Given the description of an element on the screen output the (x, y) to click on. 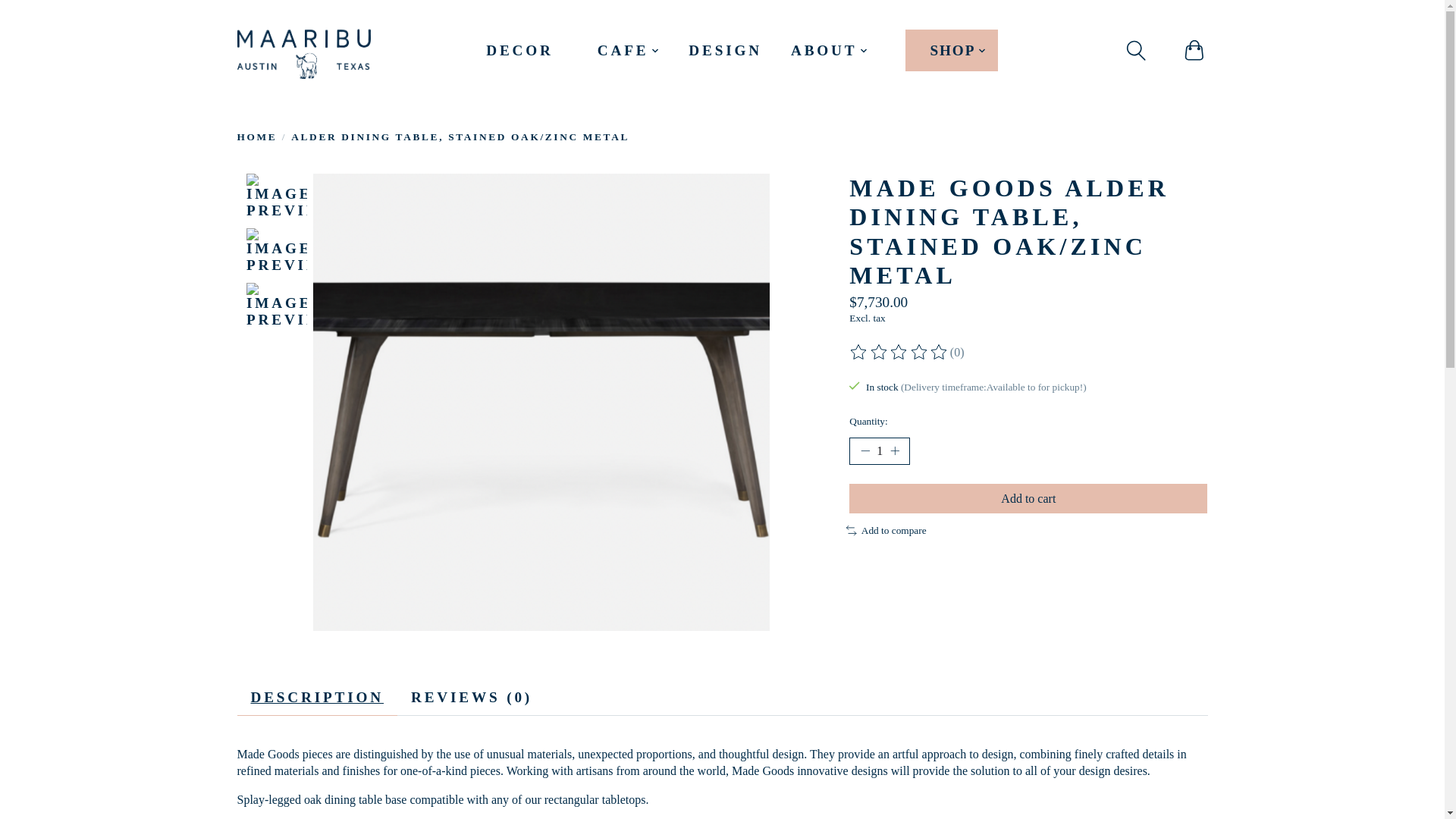
Maaribu (302, 50)
DESIGN (724, 50)
DECOR (519, 50)
SHOP (951, 50)
1 (879, 451)
CAFE (628, 50)
ABOUT (829, 50)
